Given the description of an element on the screen output the (x, y) to click on. 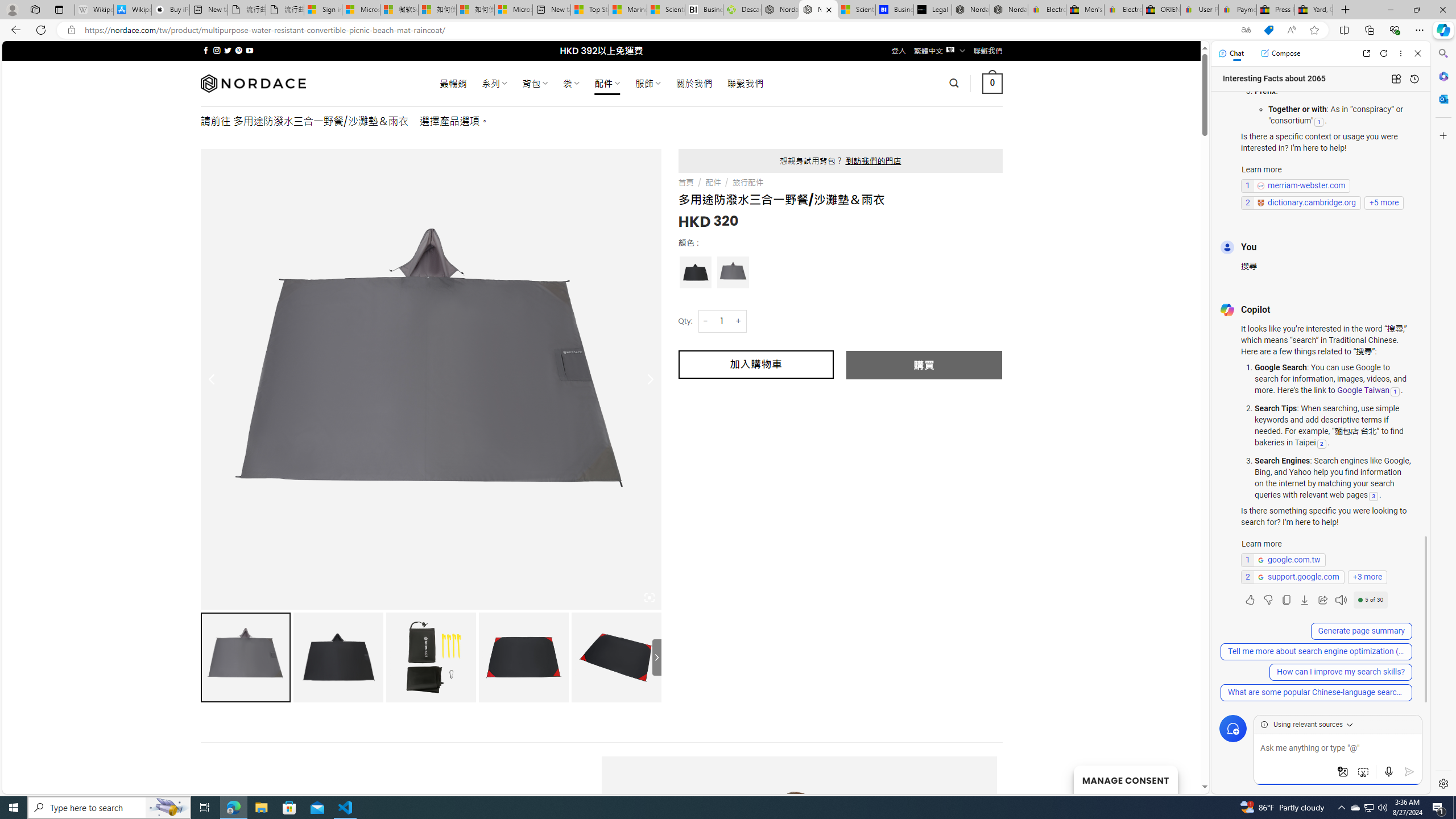
 0  (992, 83)
Minimize Search pane (1442, 53)
  0   (992, 83)
